Given the description of an element on the screen output the (x, y) to click on. 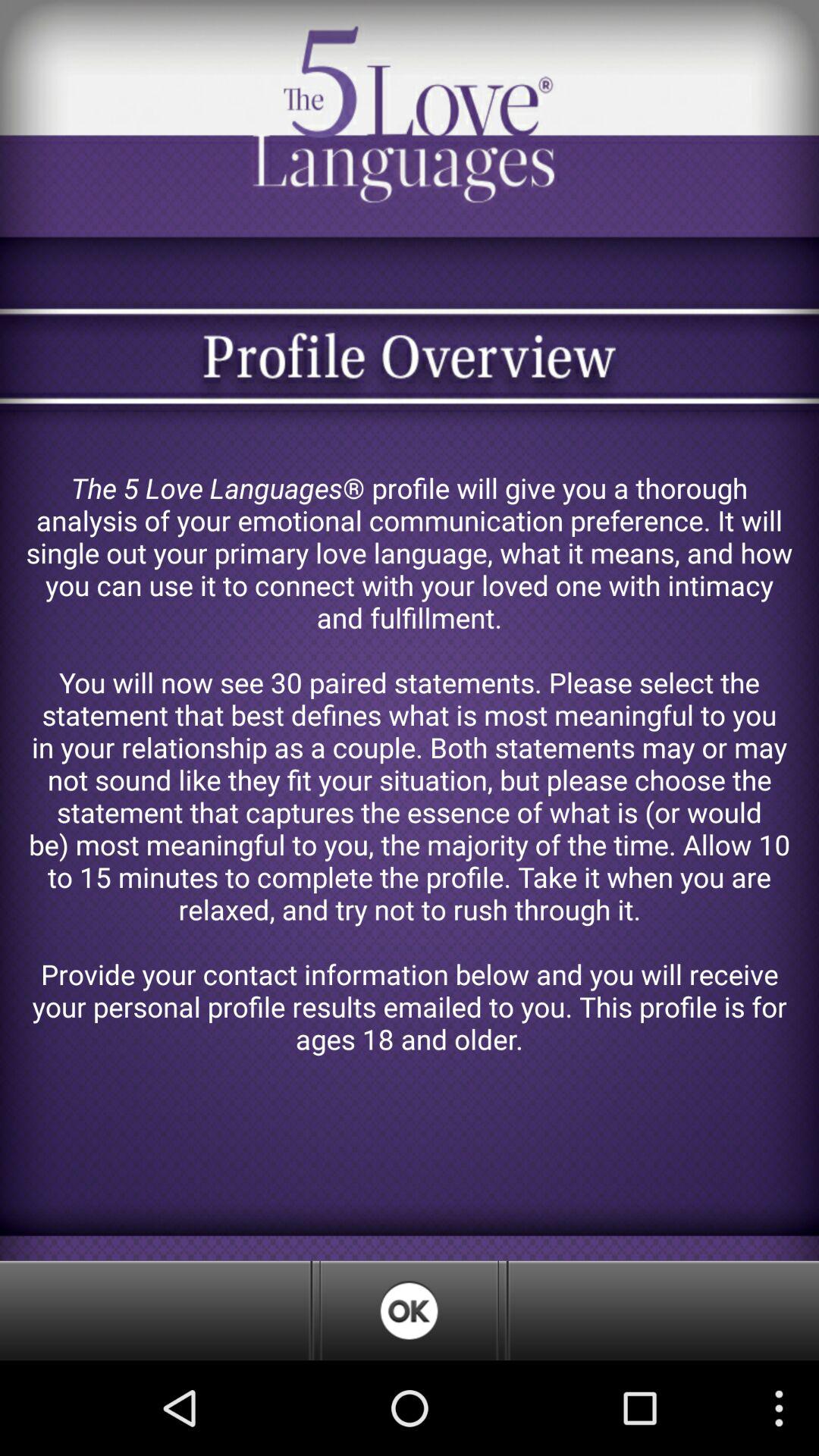
confirm overview ok (408, 1310)
